Given the description of an element on the screen output the (x, y) to click on. 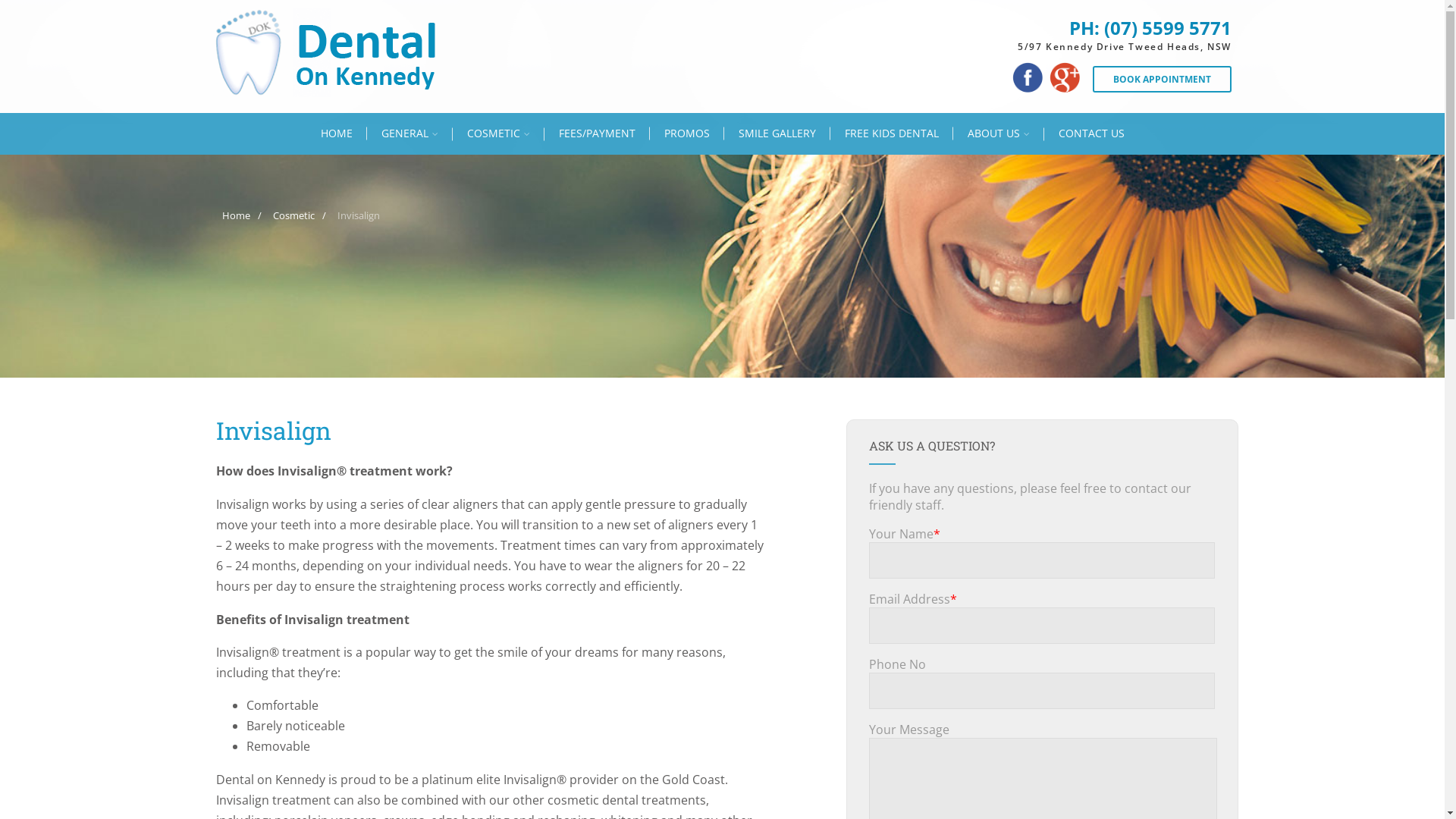
FEES/PAYMENT Element type: text (596, 132)
GENERAL Element type: text (409, 133)
BOOK APPOINTMENT Element type: text (1161, 78)
CONTACT US Element type: text (1090, 132)
SMILE GALLERY Element type: text (776, 132)
Home Element type: text (236, 215)
COSMETIC Element type: text (497, 133)
Cosmetic Element type: text (293, 215)
PROMOS Element type: text (686, 132)
FREE KIDS DENTAL Element type: text (890, 132)
HOME Element type: text (336, 132)
ABOUT US Element type: text (997, 133)
